Given the description of an element on the screen output the (x, y) to click on. 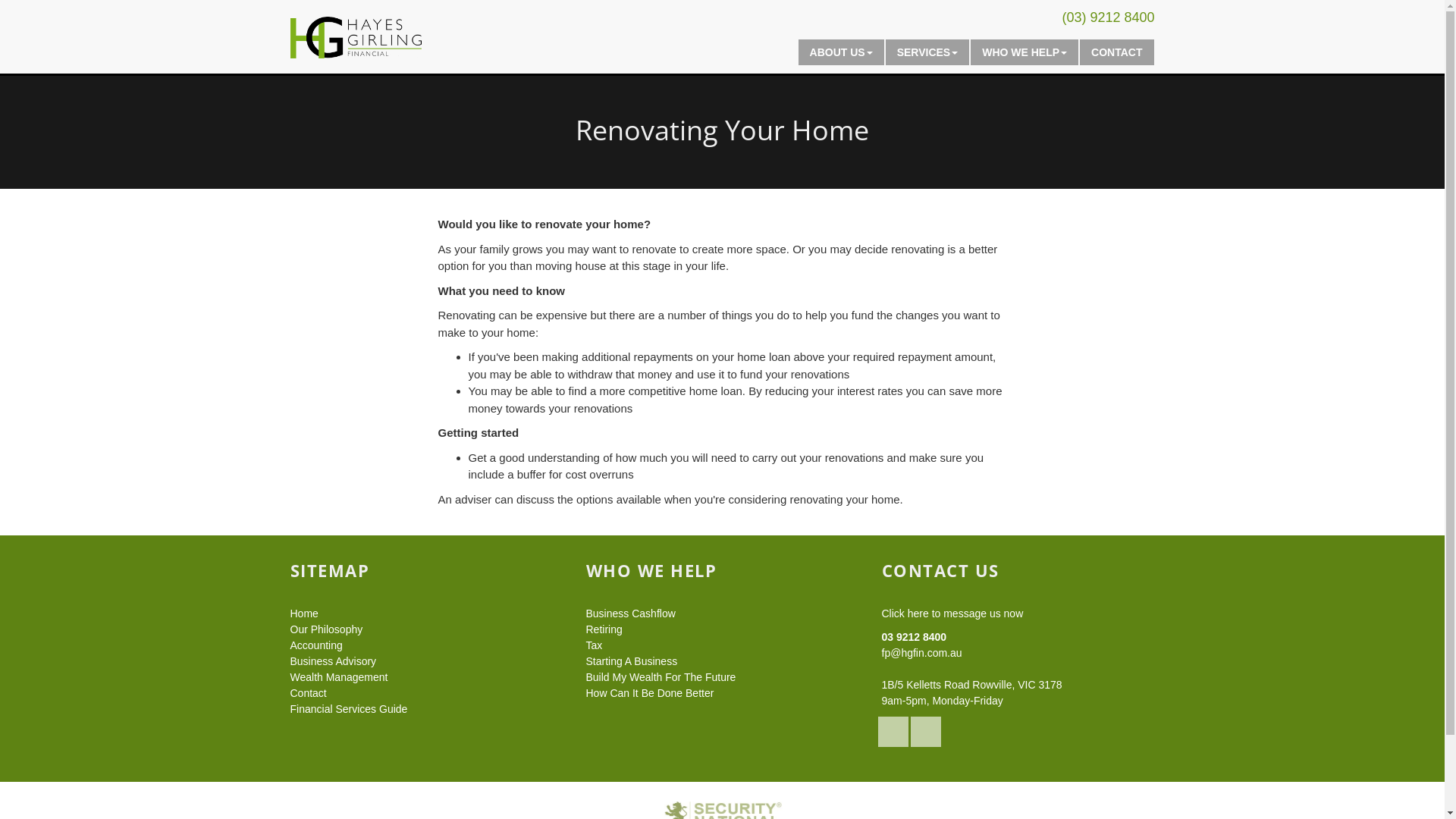
Contact Element type: text (307, 693)
Business Advisory Element type: text (332, 661)
Retiring Element type: text (603, 629)
fp@hgfin.com.au Element type: text (921, 652)
WHO WE HELP Element type: text (1024, 52)
Starting A Business Element type: text (631, 661)
Home Element type: text (303, 613)
SERVICES Element type: text (927, 52)
Tax Element type: text (593, 645)
Accounting Element type: text (315, 645)
Click here to message us now Element type: text (951, 613)
CONTACT Element type: text (1116, 52)
Business Cashflow Element type: text (629, 613)
ABOUT US Element type: text (841, 52)
Wealth Management Element type: text (338, 677)
How Can It Be Done Better Element type: text (649, 693)
Build My Wealth For The Future Element type: text (660, 677)
Financial Services Guide Element type: text (348, 708)
Our Philosophy Element type: text (325, 629)
